Given the description of an element on the screen output the (x, y) to click on. 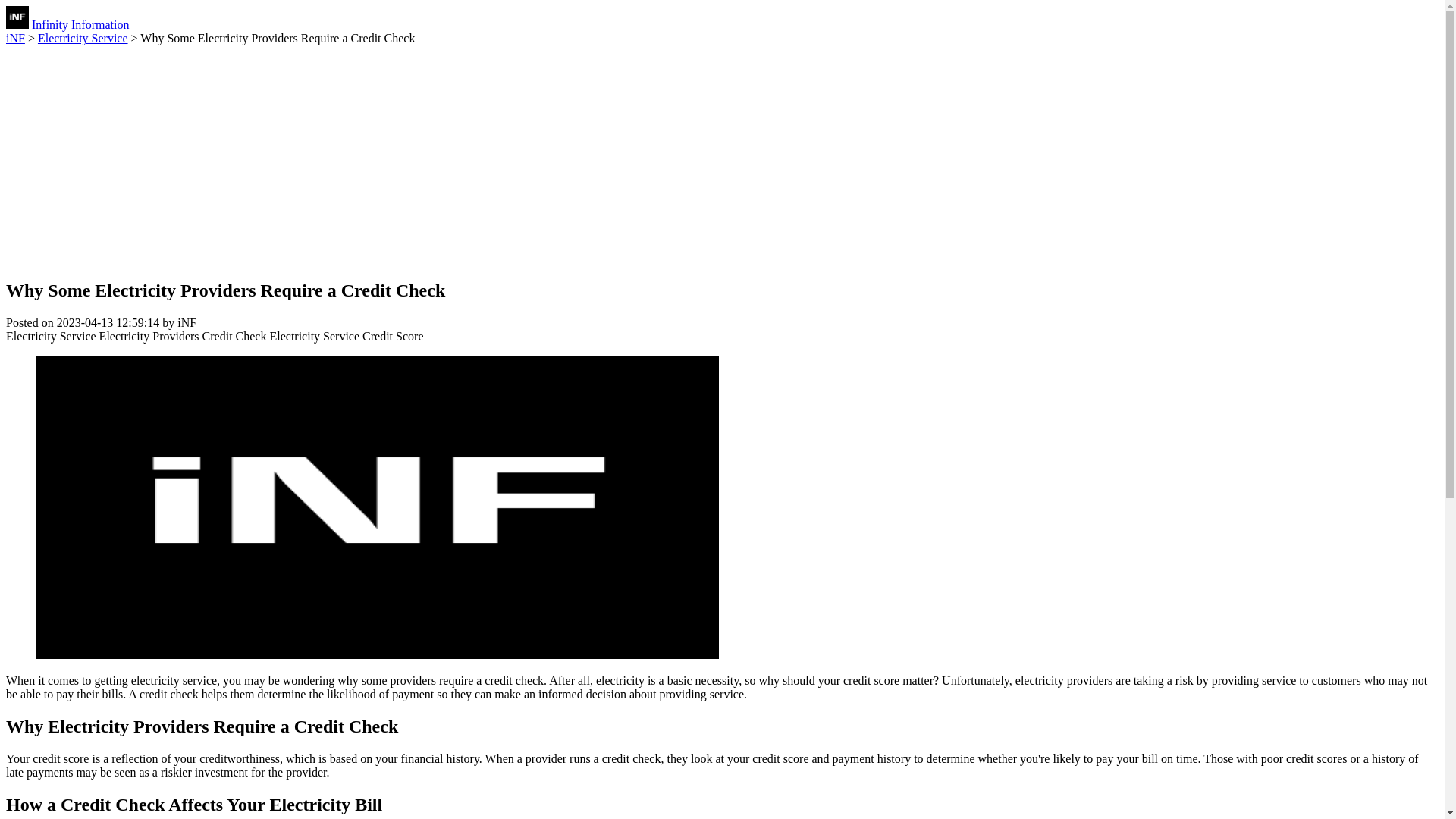
Electricity Service (82, 38)
Electricity Service (50, 336)
Credit Score (392, 336)
iNF (14, 38)
Credit Check (234, 336)
Infinity Information (67, 24)
Electricity Service (314, 336)
Electricity Providers (149, 336)
